Given the description of an element on the screen output the (x, y) to click on. 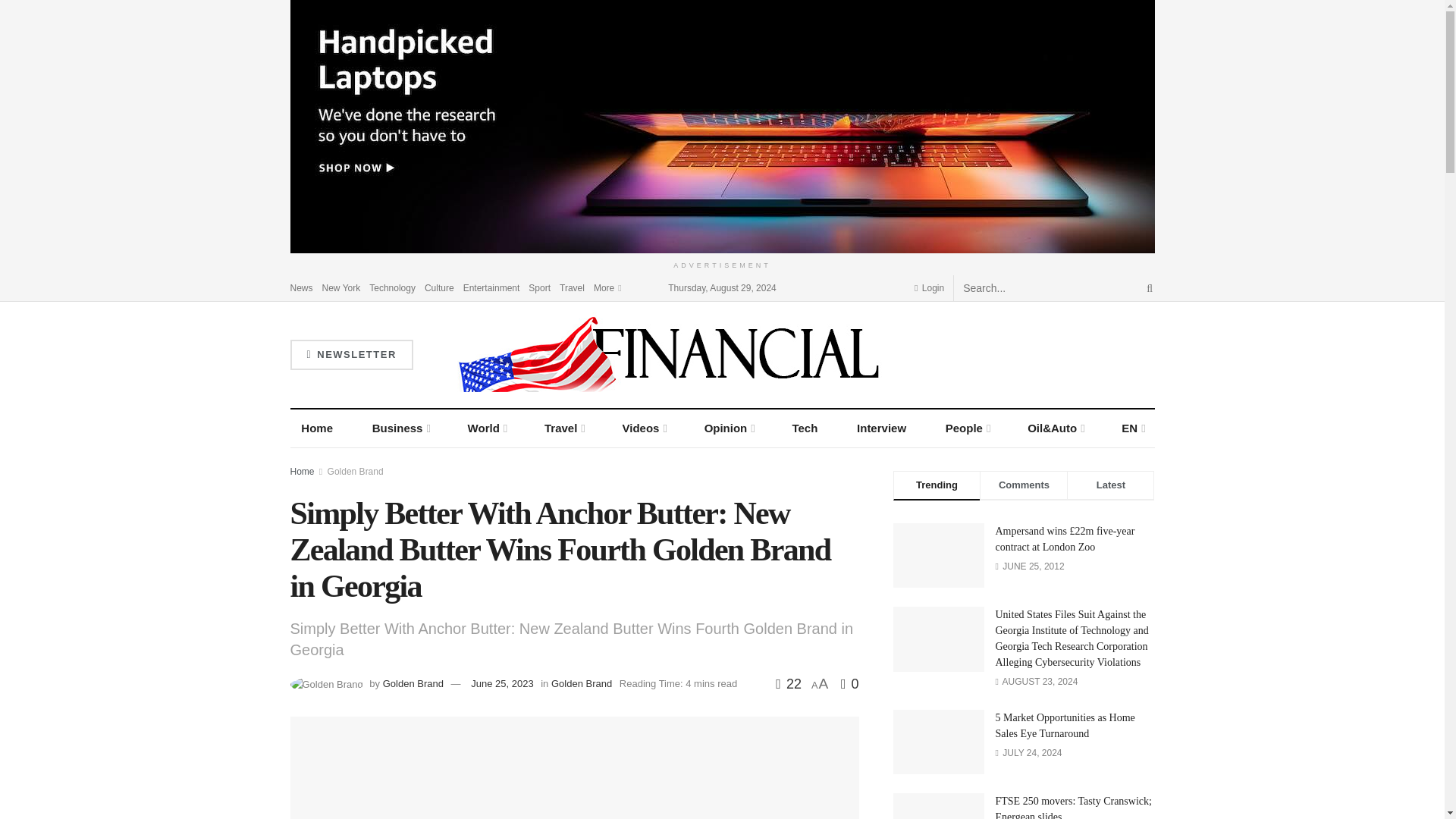
Culture (439, 287)
Technology (391, 287)
More (607, 287)
Home (316, 428)
Business (400, 428)
Entertainment (491, 287)
NEWSLETTER (350, 354)
Login (928, 287)
World (486, 428)
New York (341, 287)
